Given the description of an element on the screen output the (x, y) to click on. 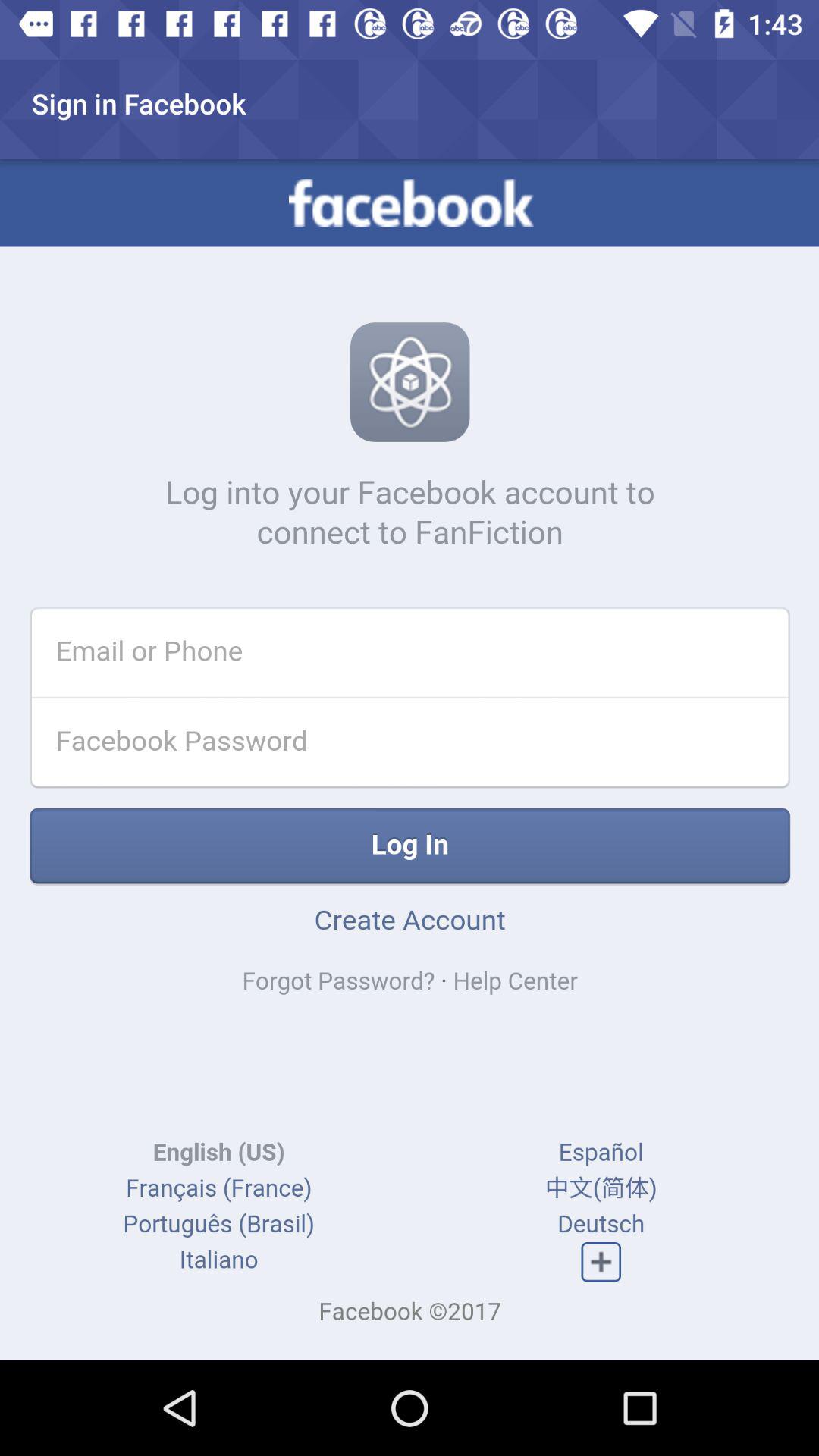
facebook login (409, 759)
